Given the description of an element on the screen output the (x, y) to click on. 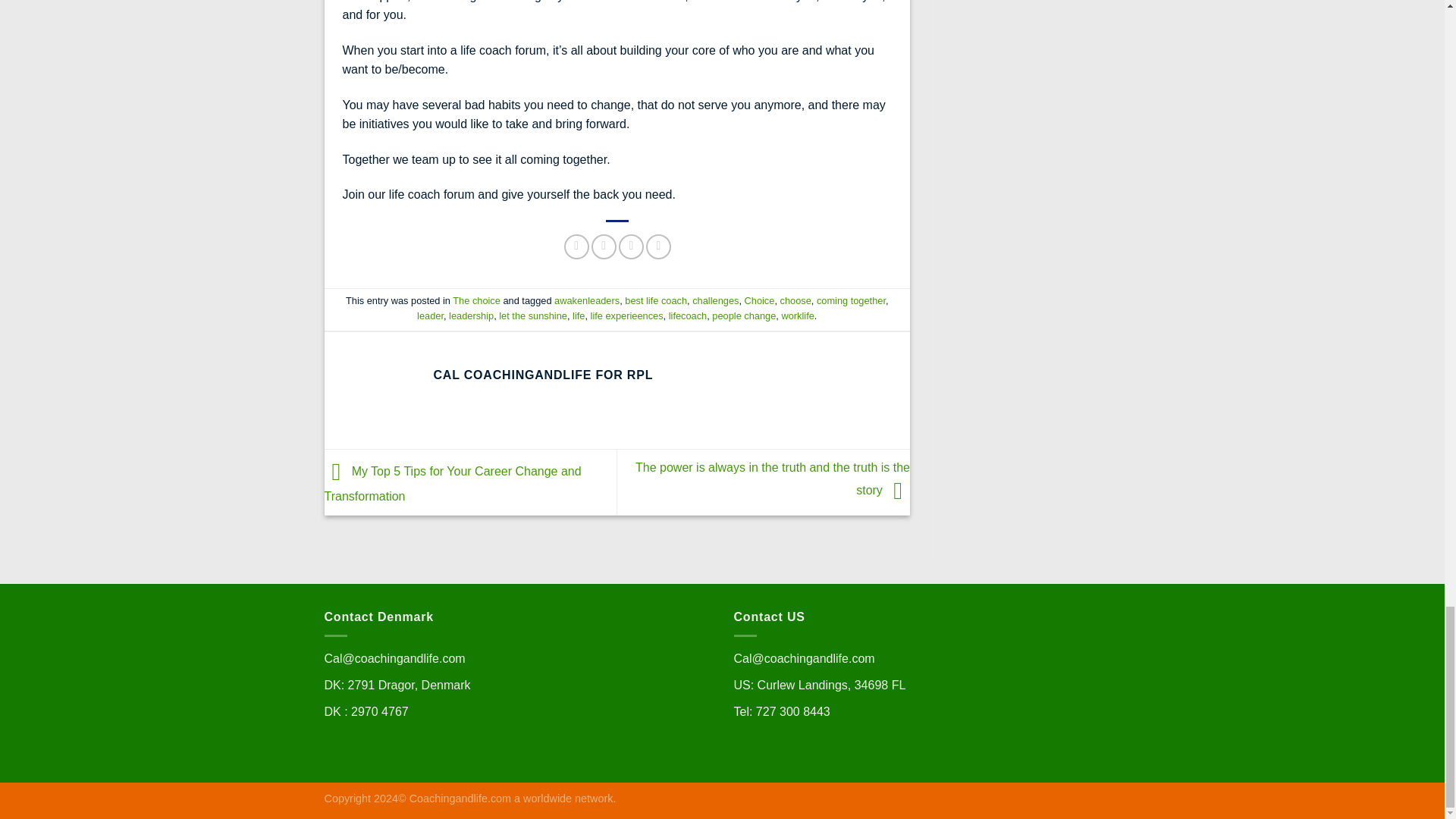
Share on Twitter (603, 246)
Email to a Friend (630, 246)
Share on Facebook (576, 246)
Share on LinkedIn (658, 246)
